Given the description of an element on the screen output the (x, y) to click on. 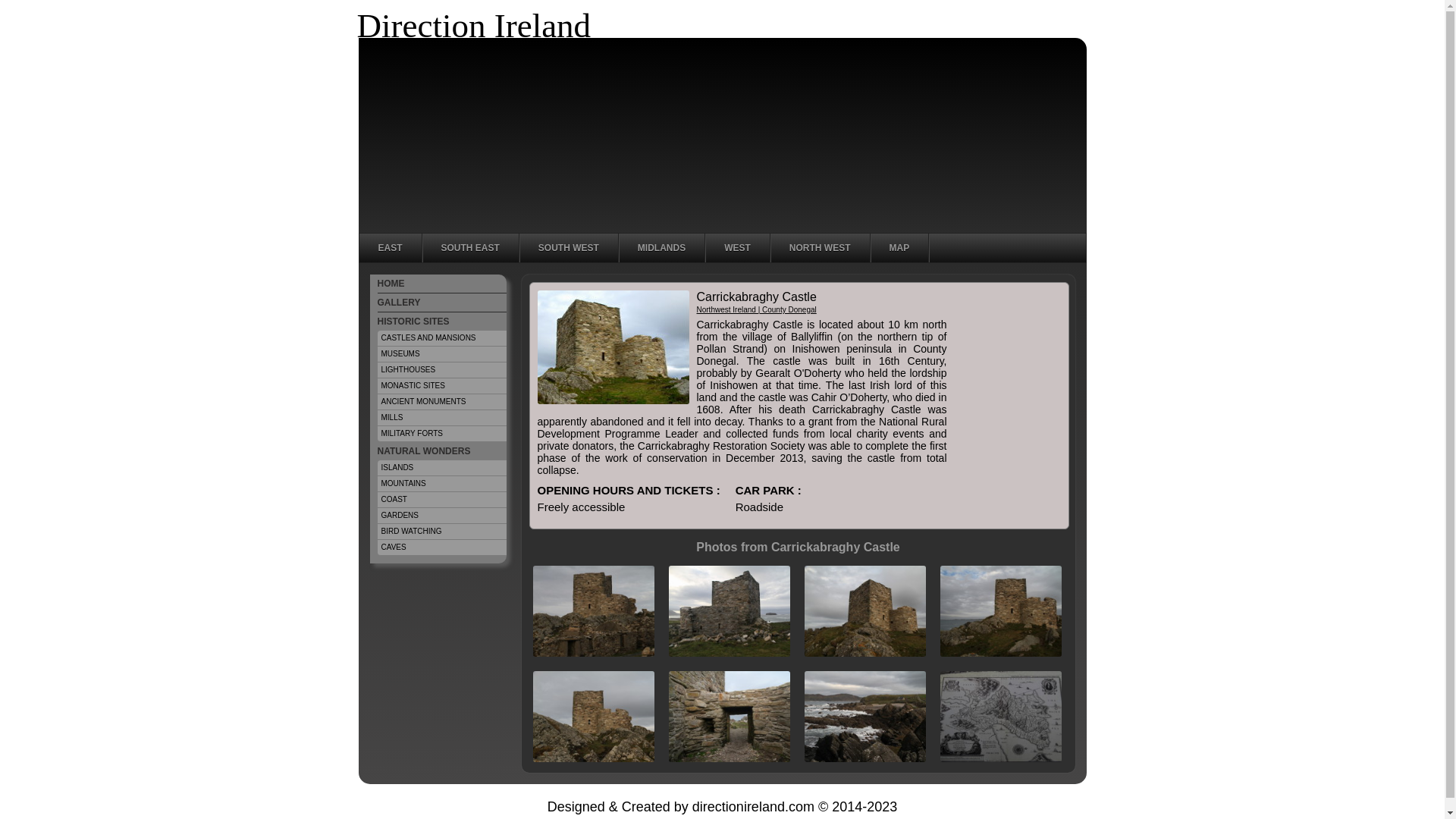
EAST (390, 247)
MILITARY FORTS (441, 433)
ANCIENT MONUMENTS (441, 401)
SOUTH WEST (568, 247)
NORTH WEST (819, 247)
LIGHTHOUSES (441, 370)
MILLS (441, 417)
GALLERY (441, 302)
HOME (441, 283)
MAP (899, 247)
